Given the description of an element on the screen output the (x, y) to click on. 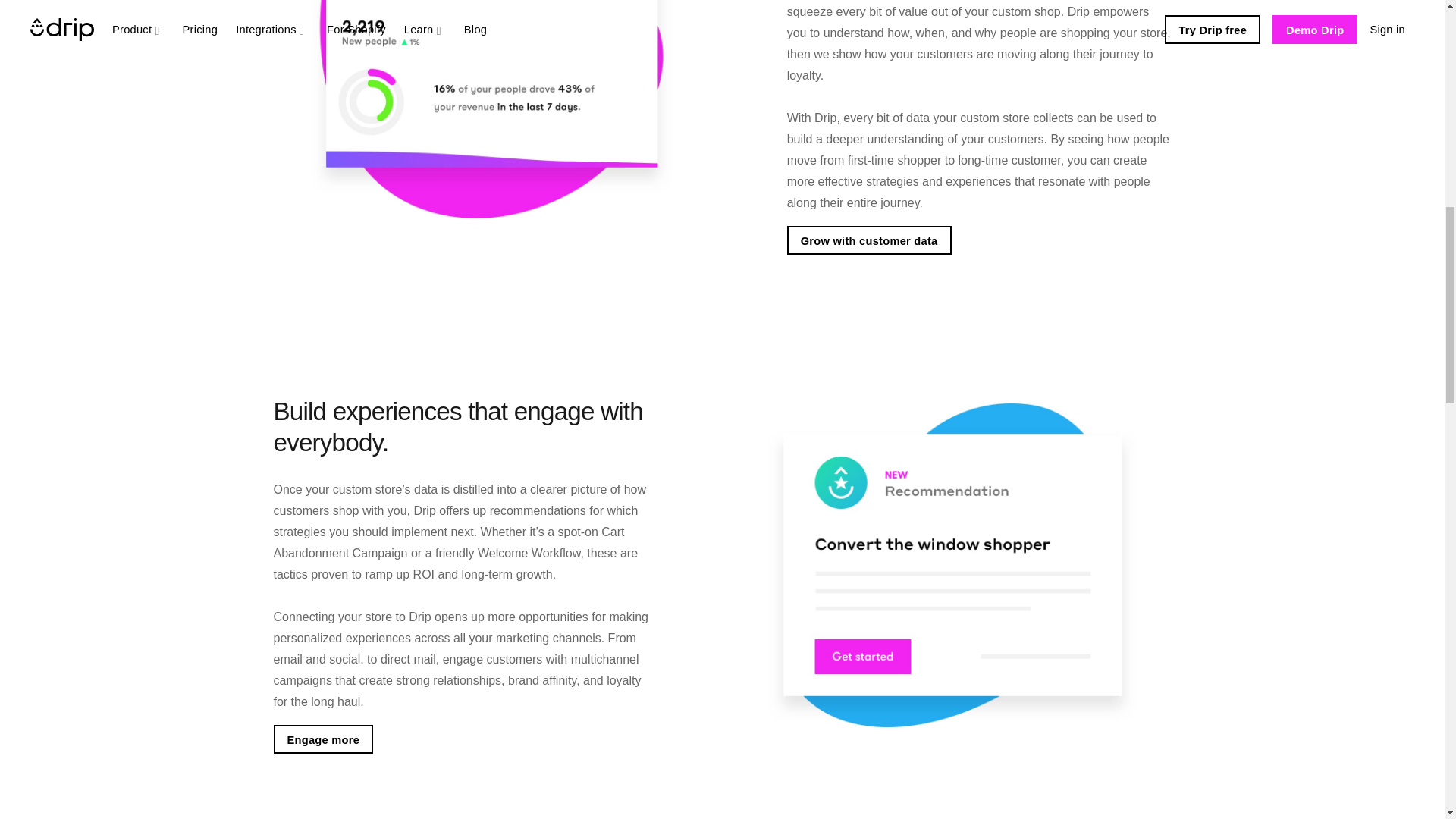
Grow with customer data (869, 240)
A recommendation card from Drip labeled "Your Best People." (491, 109)
